Given the description of an element on the screen output the (x, y) to click on. 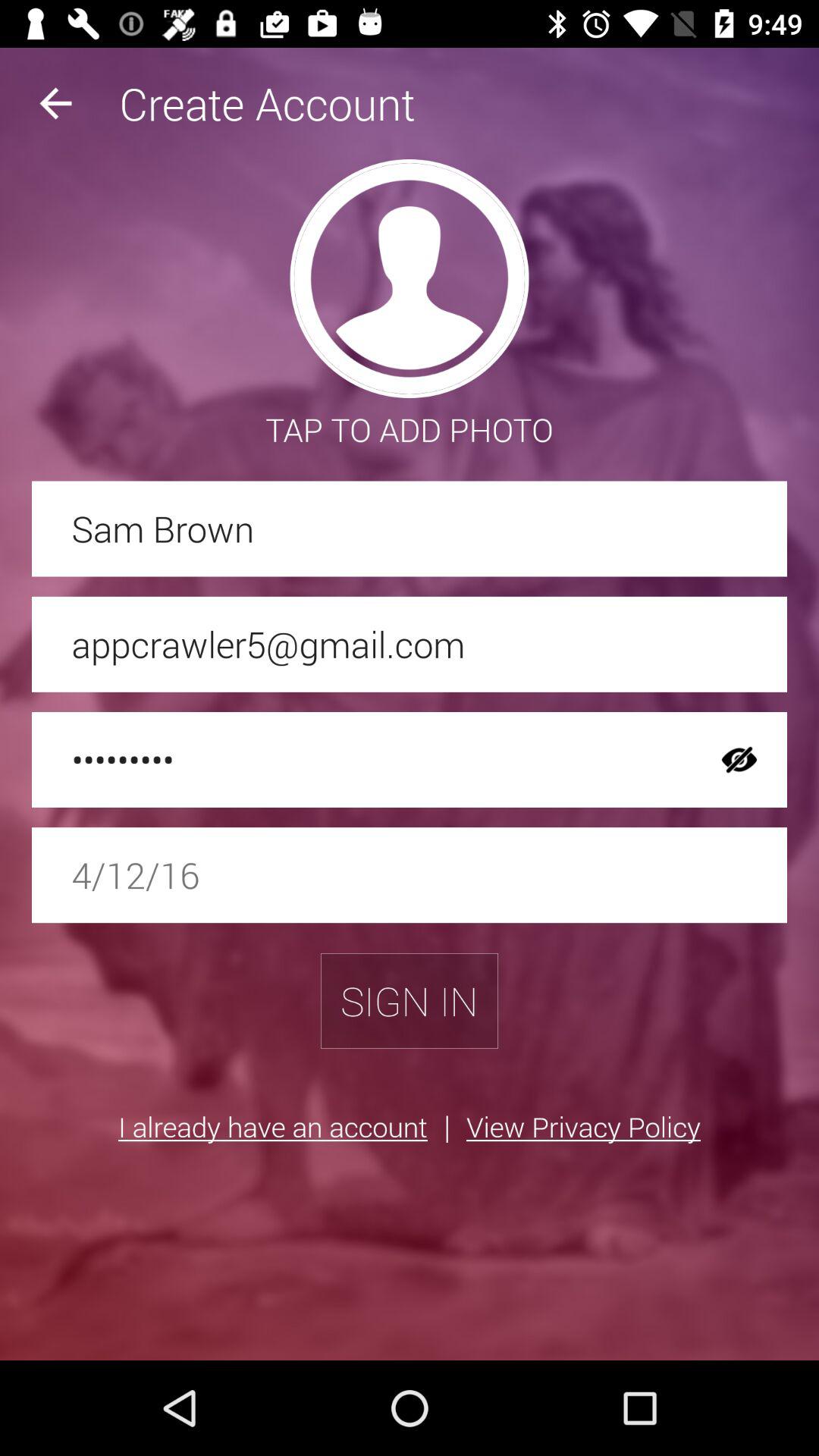
click the item next to the   | (583, 1126)
